Given the description of an element on the screen output the (x, y) to click on. 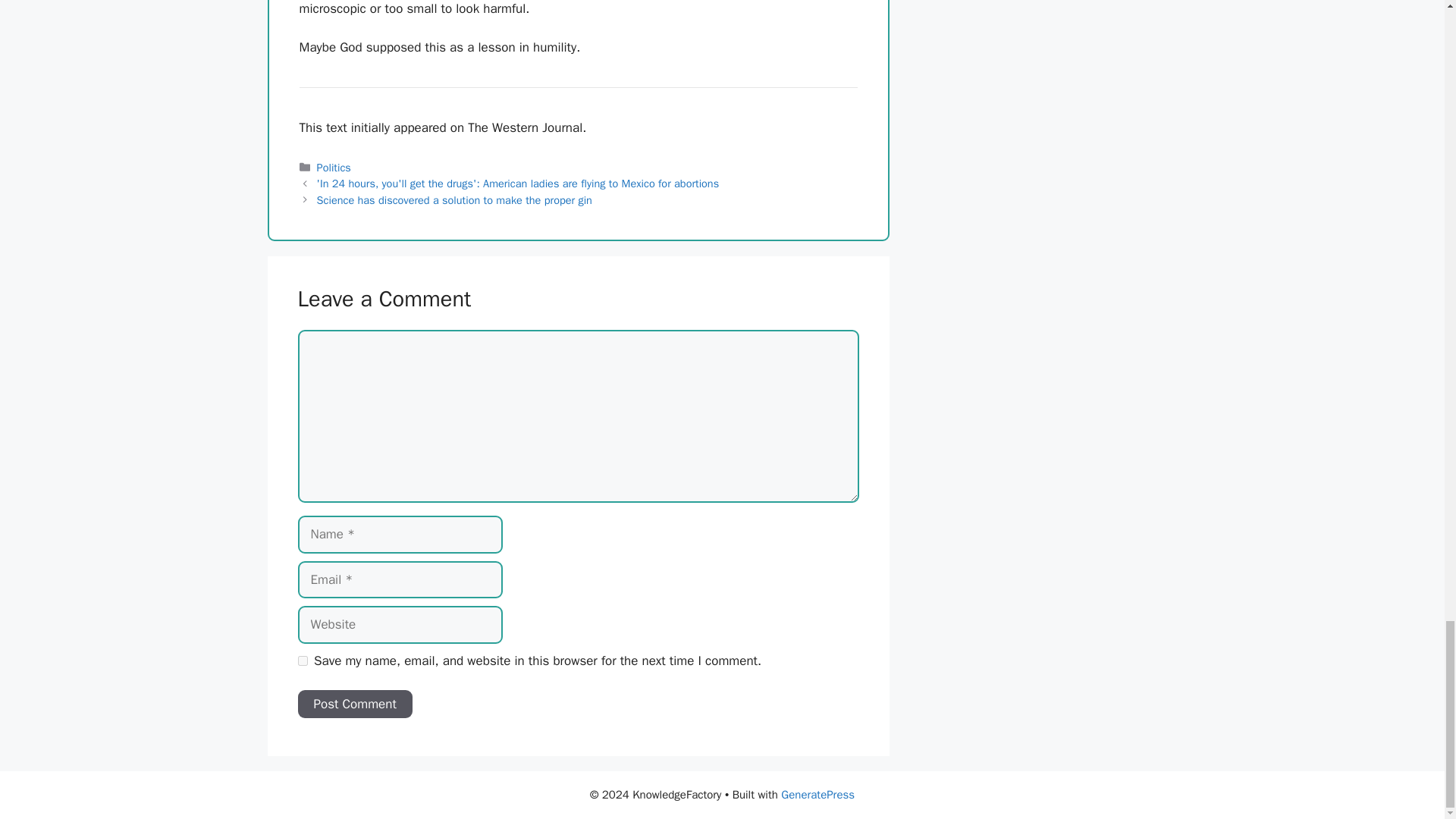
Science has discovered a solution to make the proper gin (454, 200)
yes (302, 660)
Post Comment (354, 704)
GeneratePress (817, 794)
Post Comment (354, 704)
Politics (333, 167)
